Given the description of an element on the screen output the (x, y) to click on. 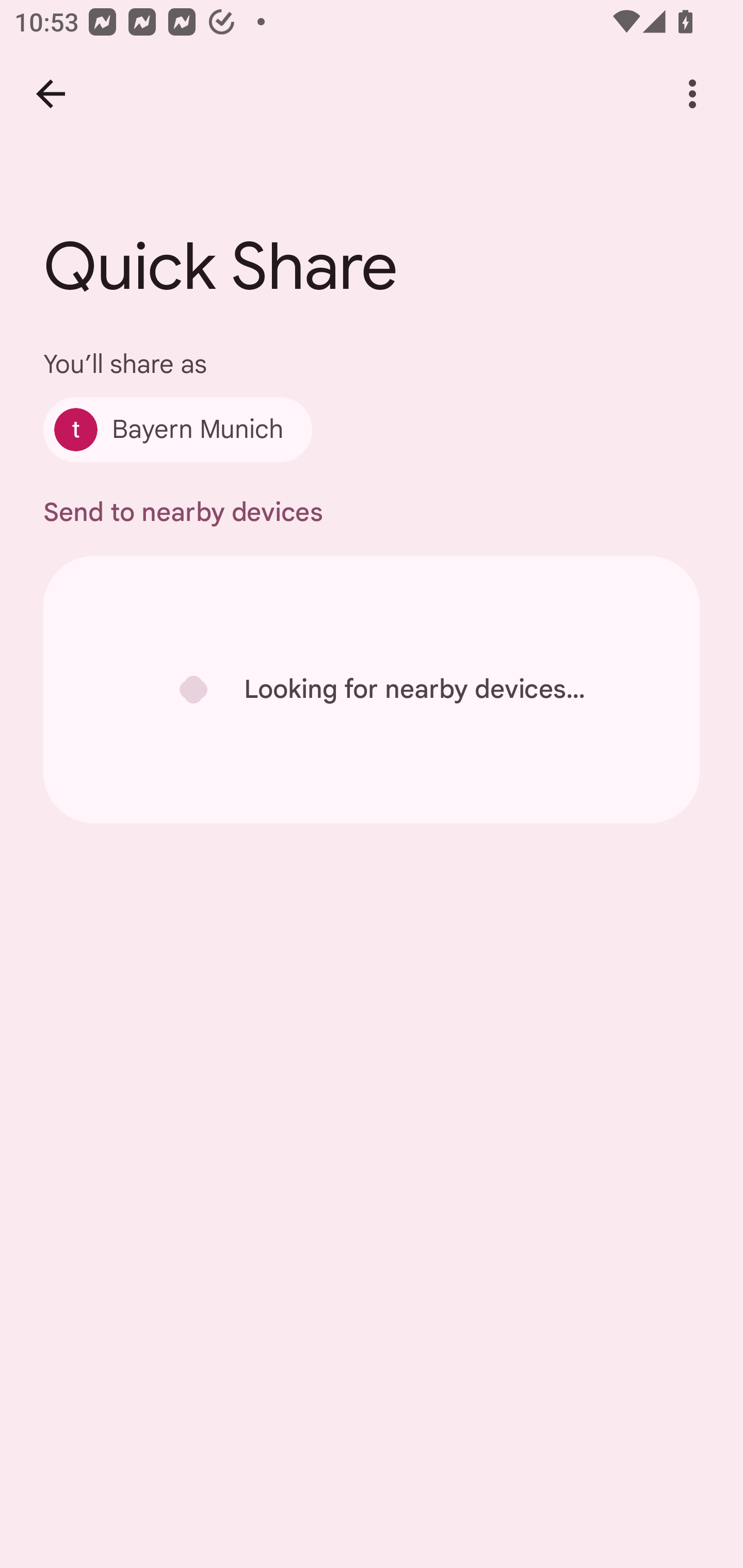
Back (50, 93)
More (692, 93)
Bayern Munich (177, 429)
